Given the description of an element on the screen output the (x, y) to click on. 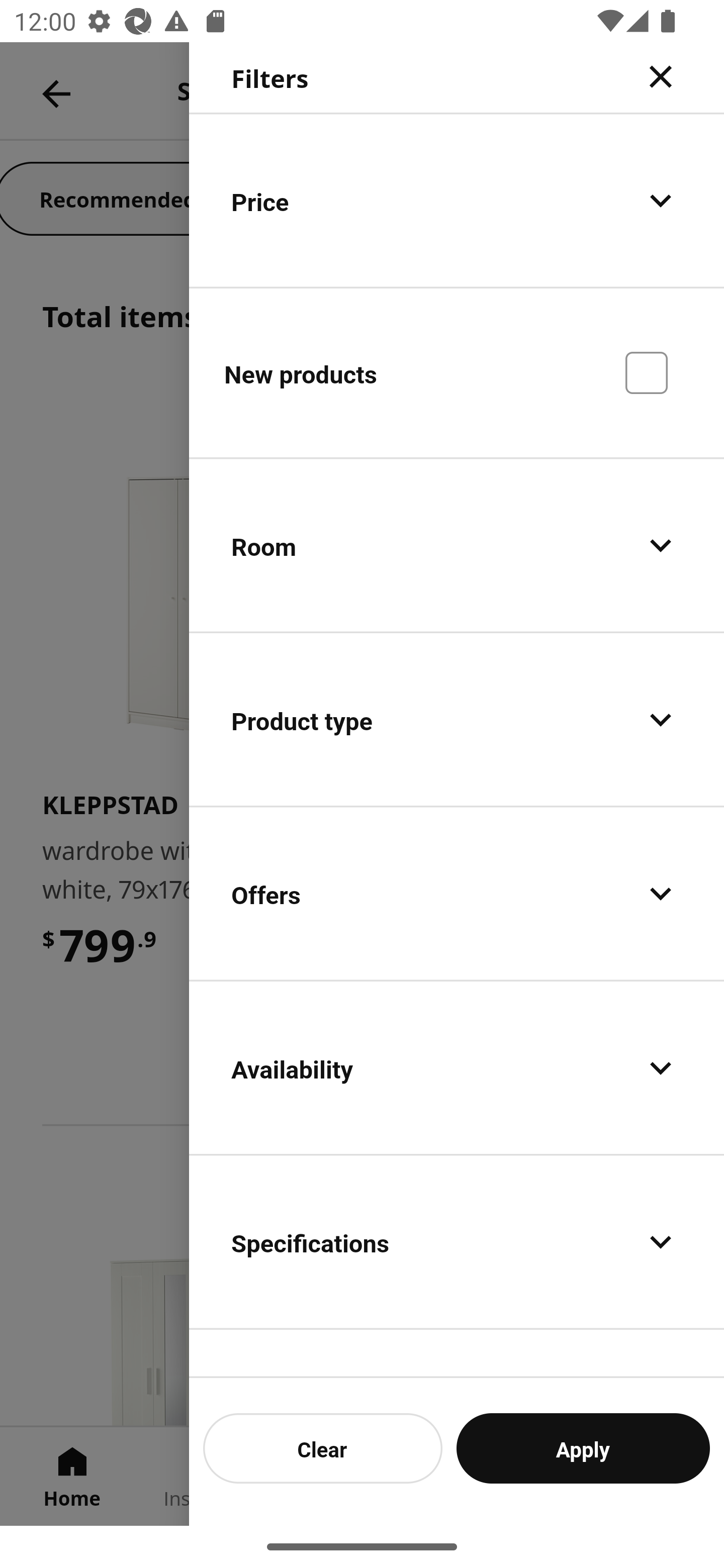
Price (456, 200)
New products (456, 371)
Room (456, 545)
Product type (456, 719)
Offers (456, 893)
Availability (456, 1067)
Specifications (456, 1241)
Clear (322, 1447)
Apply (583, 1447)
